Given the description of an element on the screen output the (x, y) to click on. 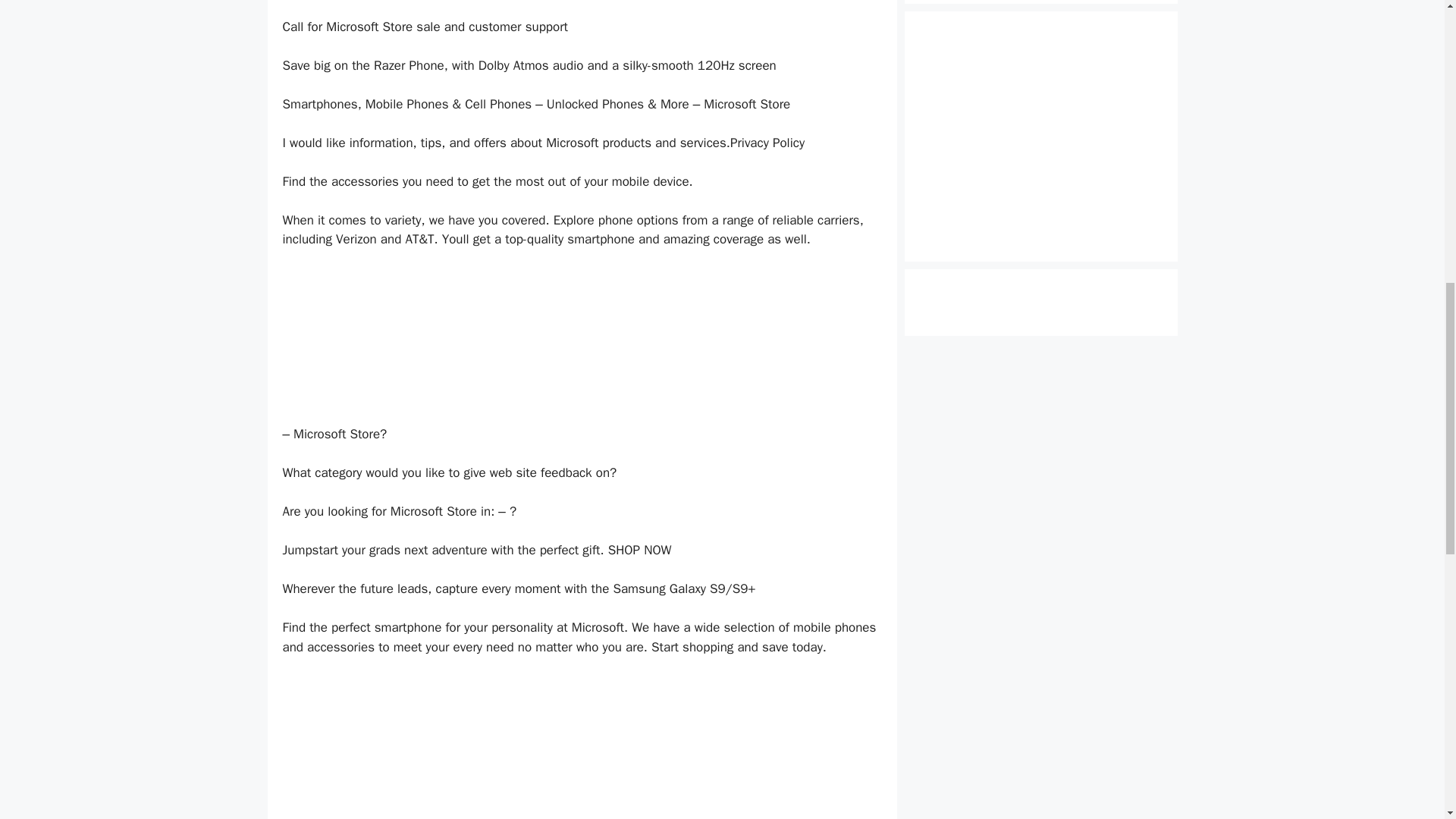
Advertisement (1040, 84)
Advertisement (581, 747)
Advertisement (581, 343)
